Given the description of an element on the screen output the (x, y) to click on. 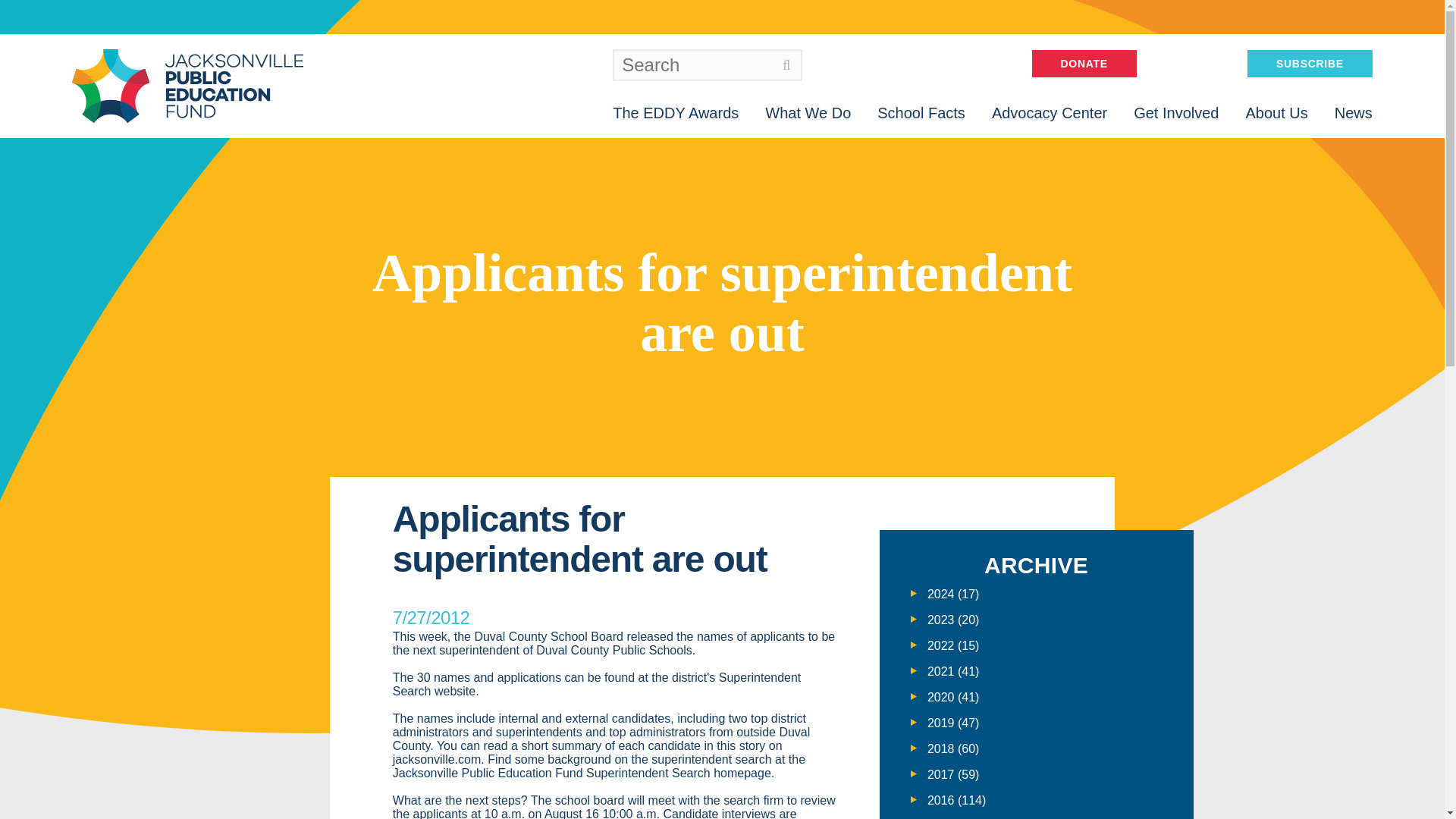
School Facts (921, 112)
Advocacy Center (1048, 112)
What We Do (807, 112)
Jacksonville Public Education Fund (186, 85)
The EDDY Awards (675, 112)
Get Involved (1176, 112)
About Us (1275, 112)
